Given the description of an element on the screen output the (x, y) to click on. 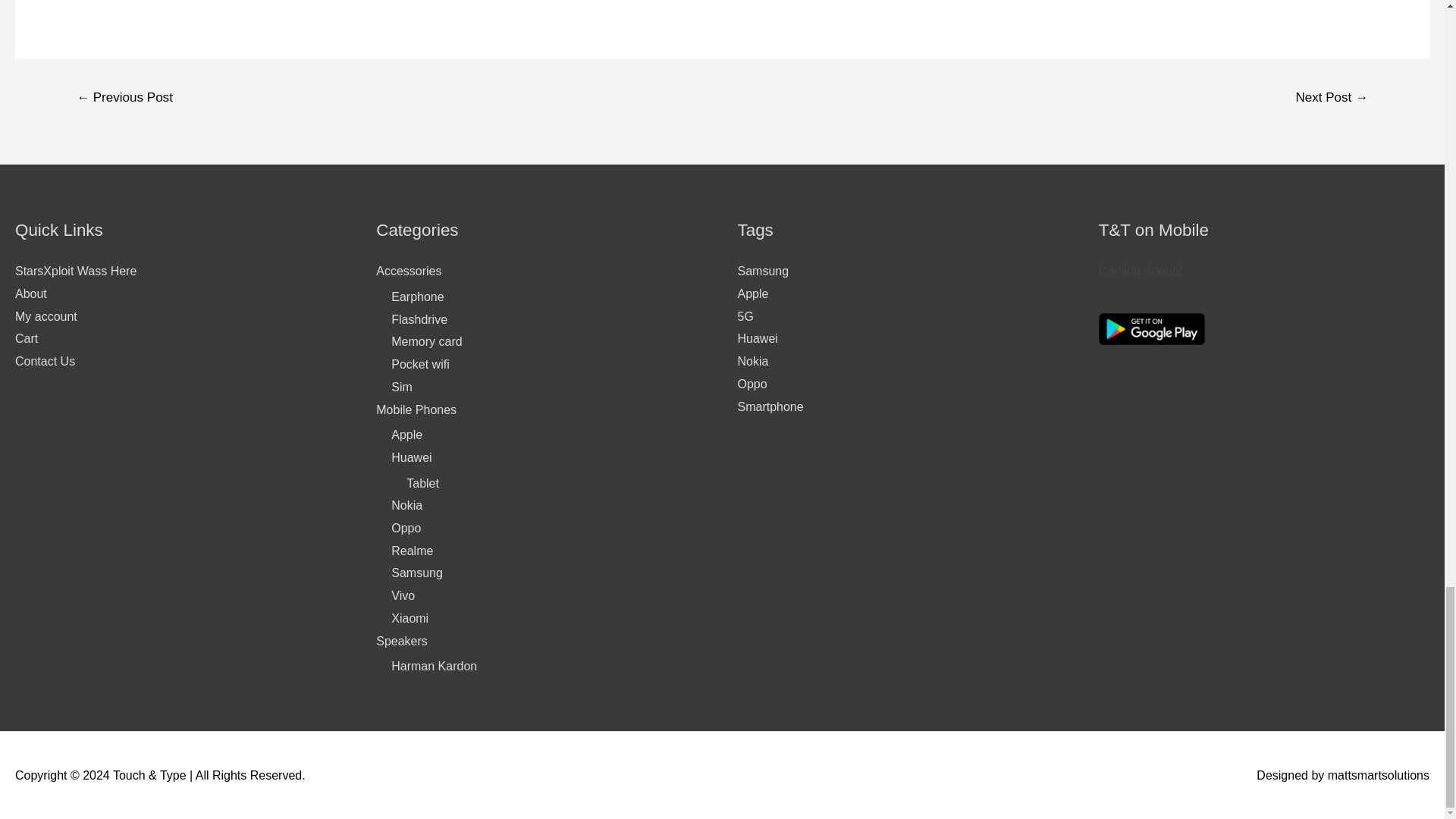
About (30, 293)
StarsXploit Wass Here (75, 270)
Memory card (426, 341)
Flashdrive (418, 318)
Cart (25, 338)
Earphone (417, 296)
My account (45, 316)
Contact Us (44, 360)
Accessories (408, 270)
